Given the description of an element on the screen output the (x, y) to click on. 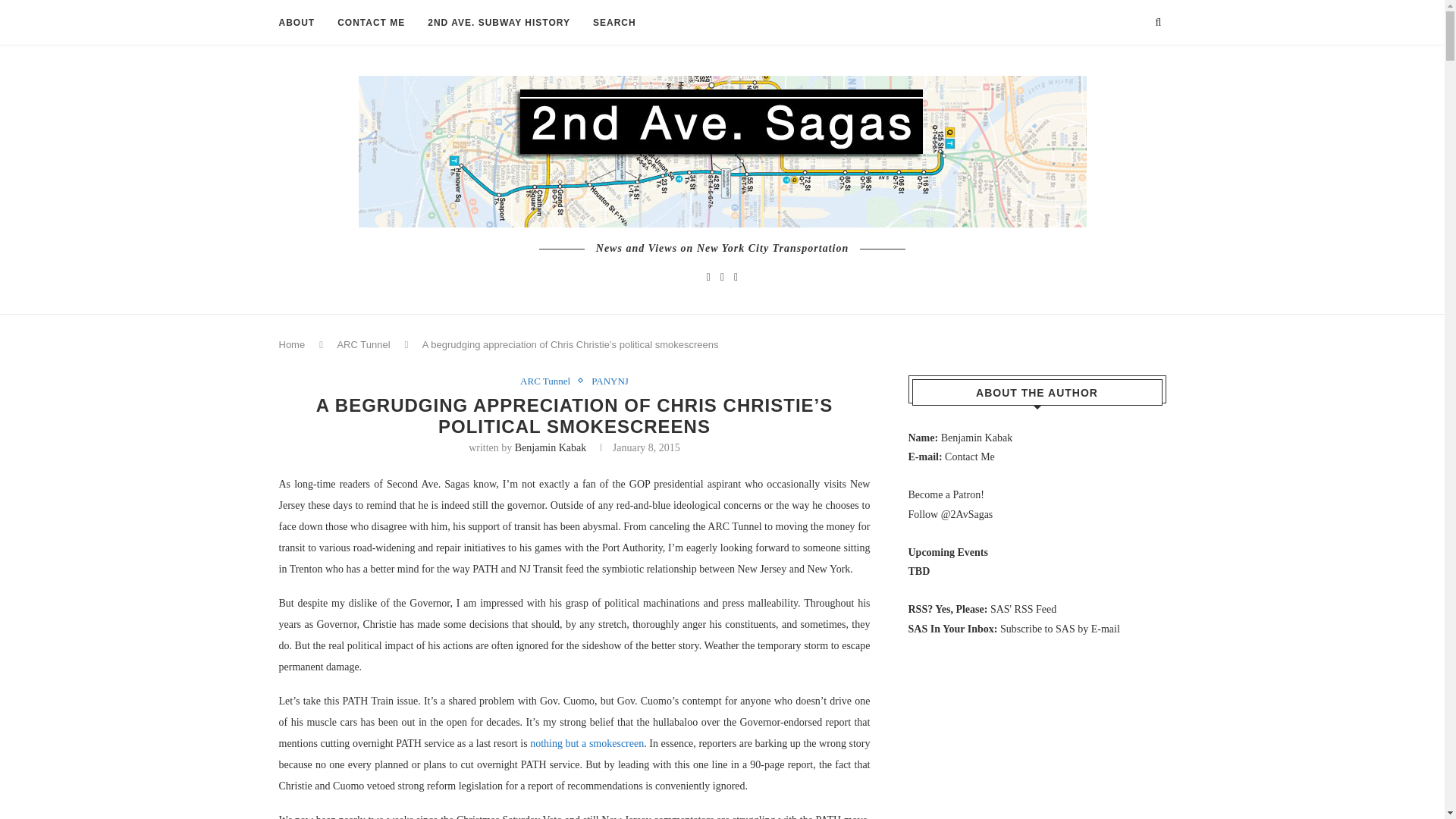
CONTACT ME (370, 22)
nothing but a smokescreen (586, 743)
ARC Tunnel (548, 381)
Home (292, 344)
PANYNJ (609, 381)
Benjamin Kabak (550, 447)
ARC Tunnel (363, 344)
2ND AVE. SUBWAY HISTORY (499, 22)
SEARCH (614, 22)
